Given the description of an element on the screen output the (x, y) to click on. 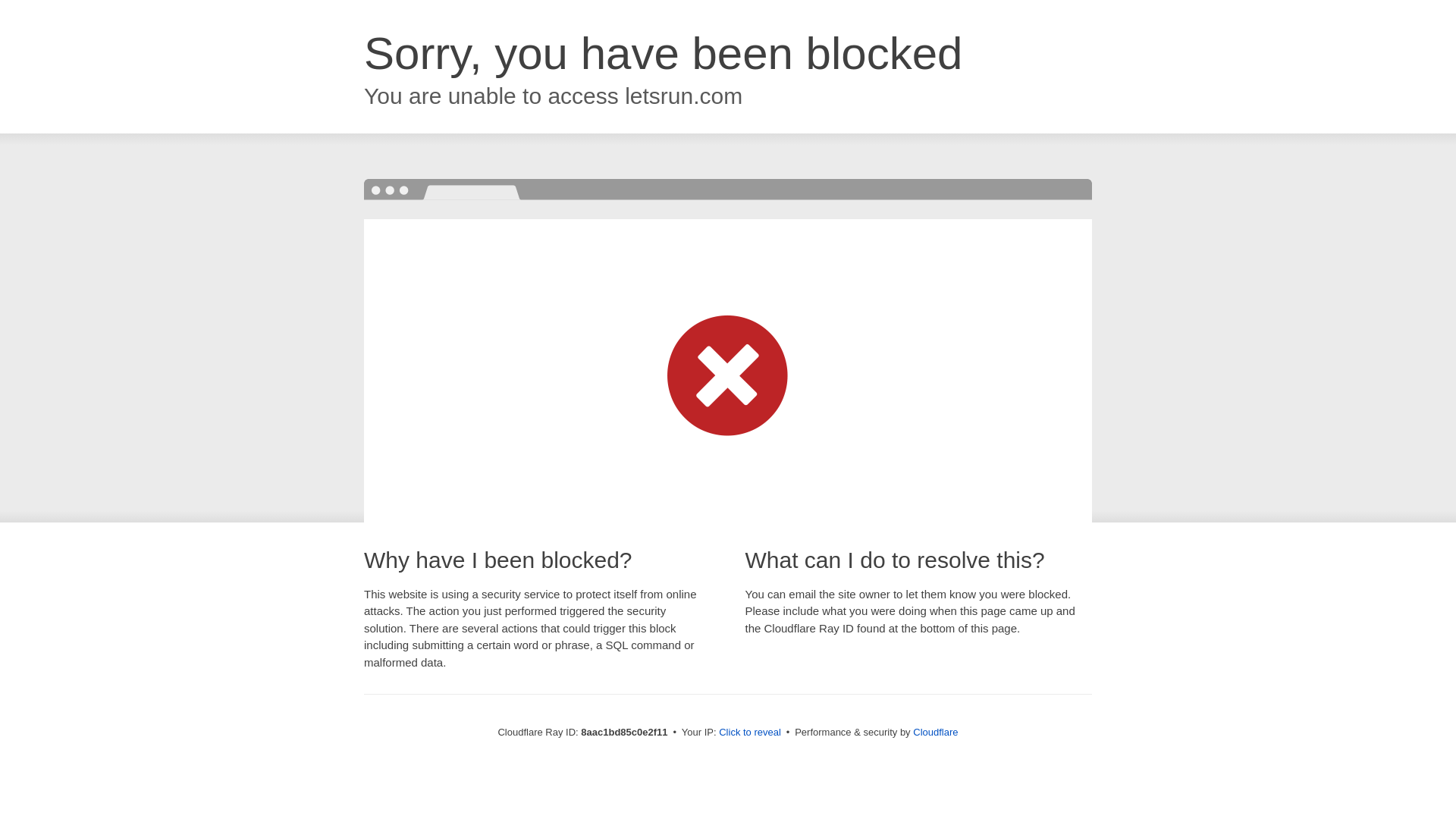
Click to reveal (749, 732)
Cloudflare (935, 731)
